Given the description of an element on the screen output the (x, y) to click on. 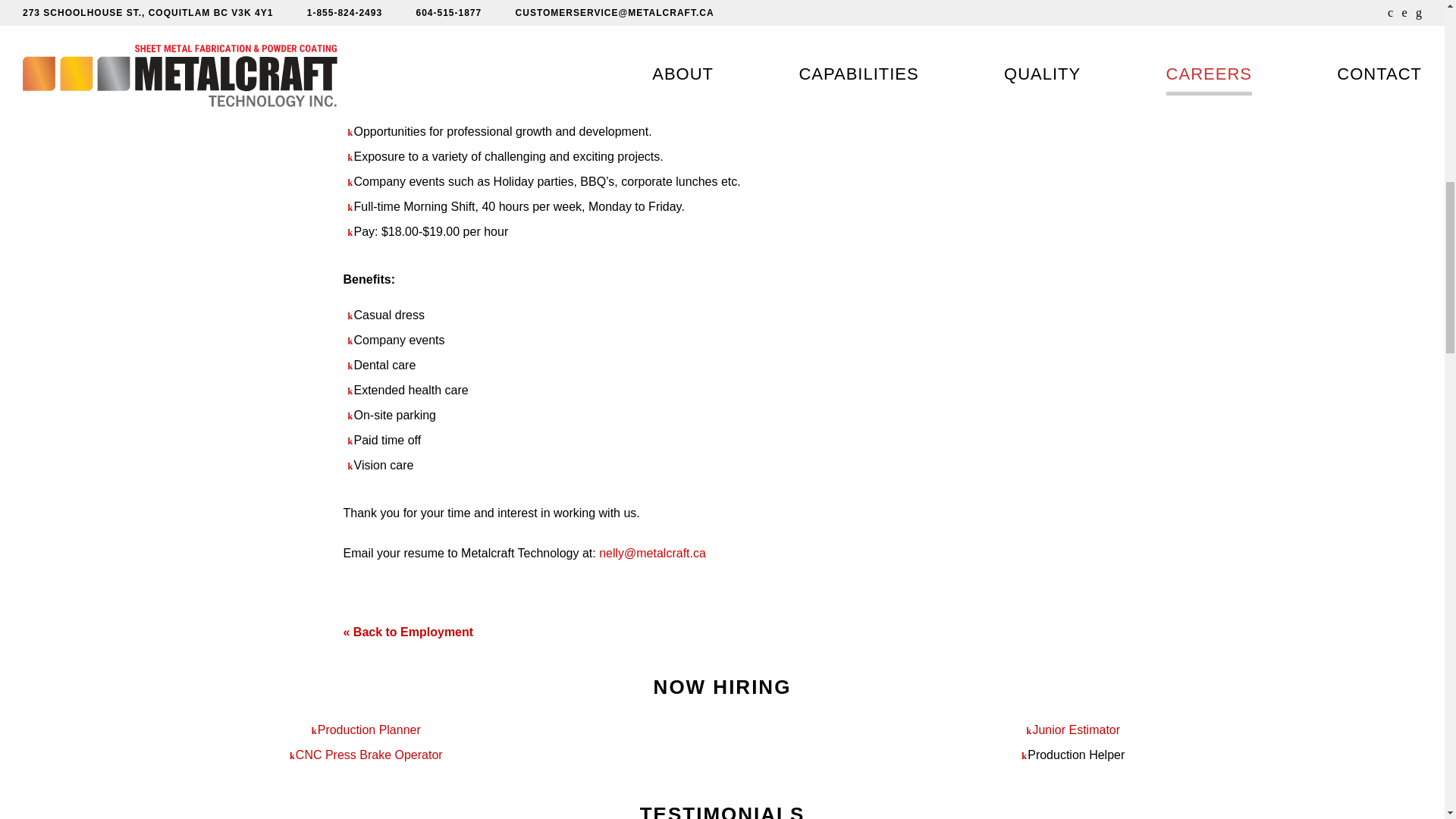
Production Helper (1075, 754)
Production Planner (368, 729)
Junior Estimator (1075, 729)
CNC Press Brake Operator (368, 754)
